Given the description of an element on the screen output the (x, y) to click on. 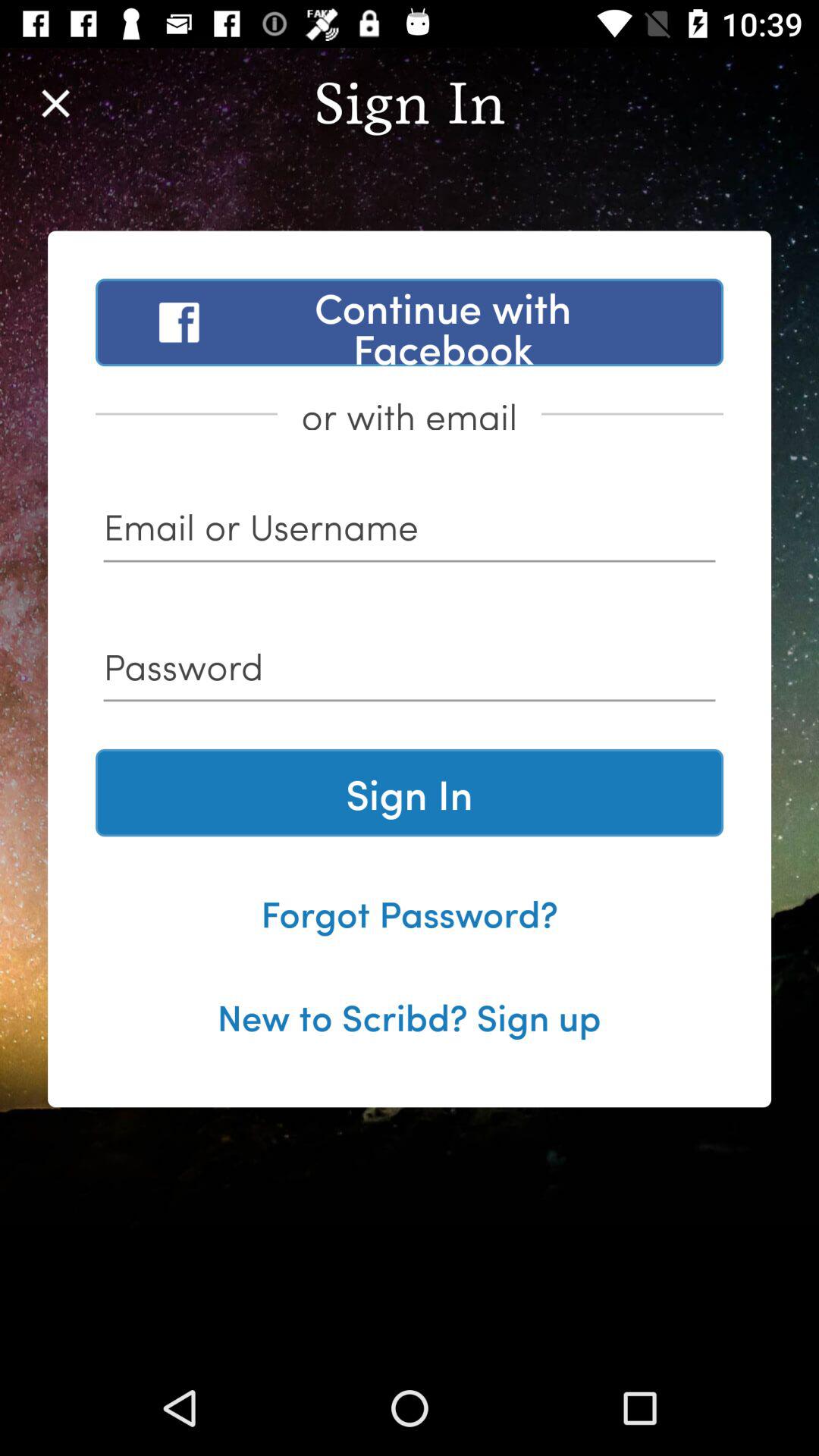
input account password (409, 671)
